Given the description of an element on the screen output the (x, y) to click on. 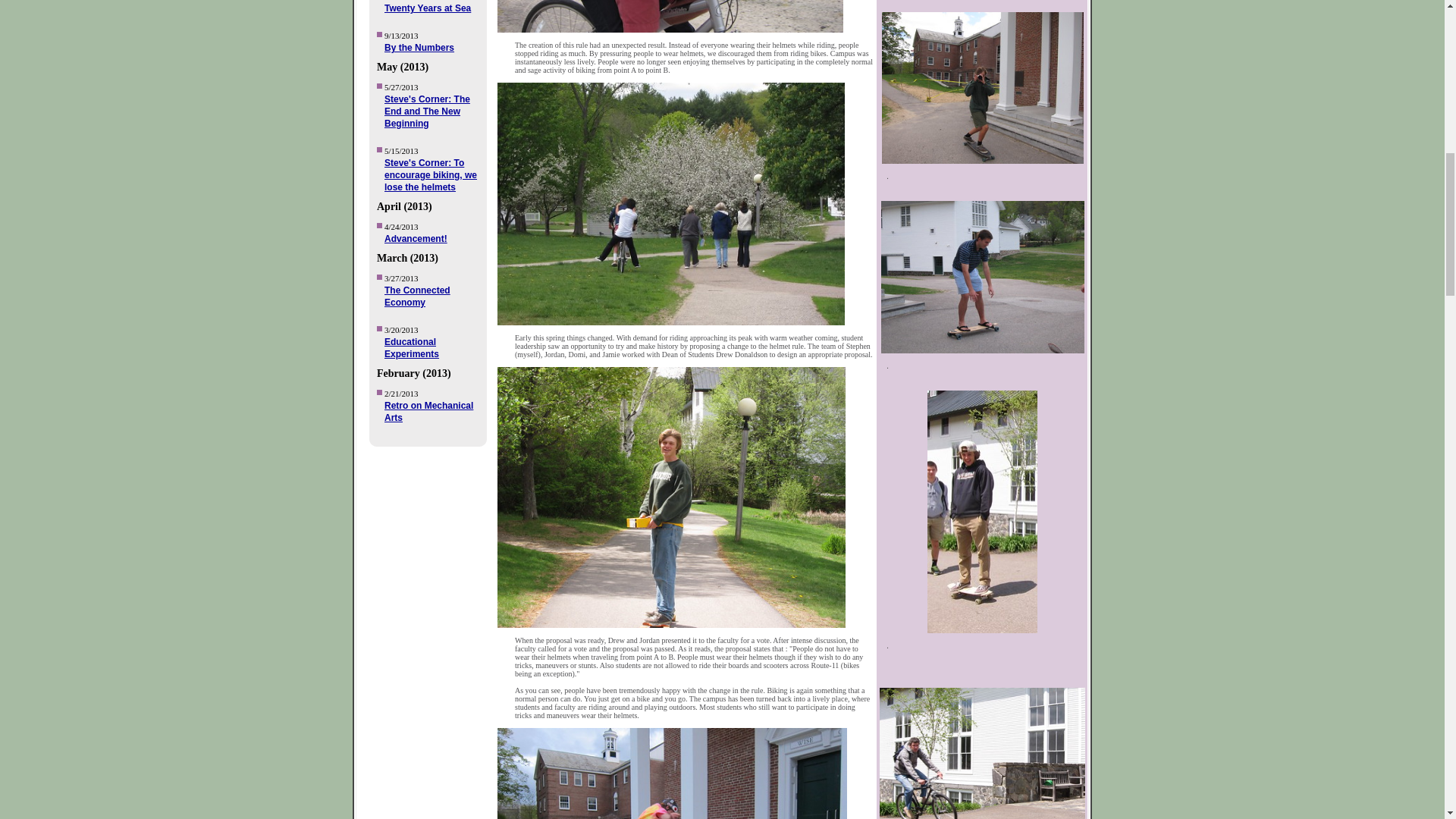
Twenty Years at Sea (427, 8)
Steve's Corner: To encourage biking, we lose the helmets (430, 175)
Steve's Corner: The End and The New Beginning (427, 111)
Higgs by stephen1625, on Flickr (981, 629)
Retro on Mechanical Arts (428, 411)
Advancement! (415, 238)
By the Numbers (419, 47)
Educational Experiments (411, 347)
The Connected Economy (416, 296)
Mike and Stil by stephen1625, on Flickr (679, 321)
